Given the description of an element on the screen output the (x, y) to click on. 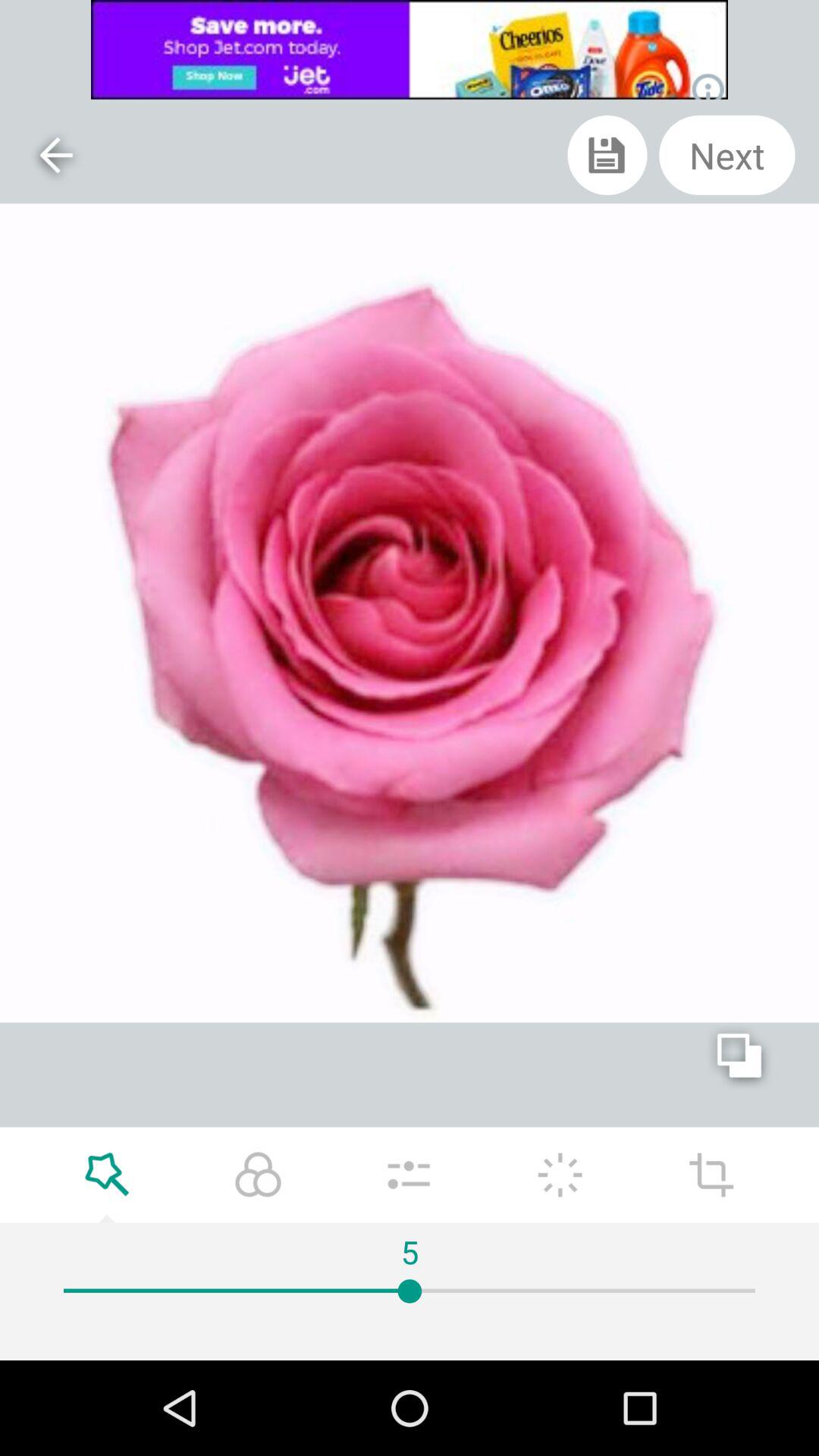
file save app (607, 155)
